Given the description of an element on the screen output the (x, y) to click on. 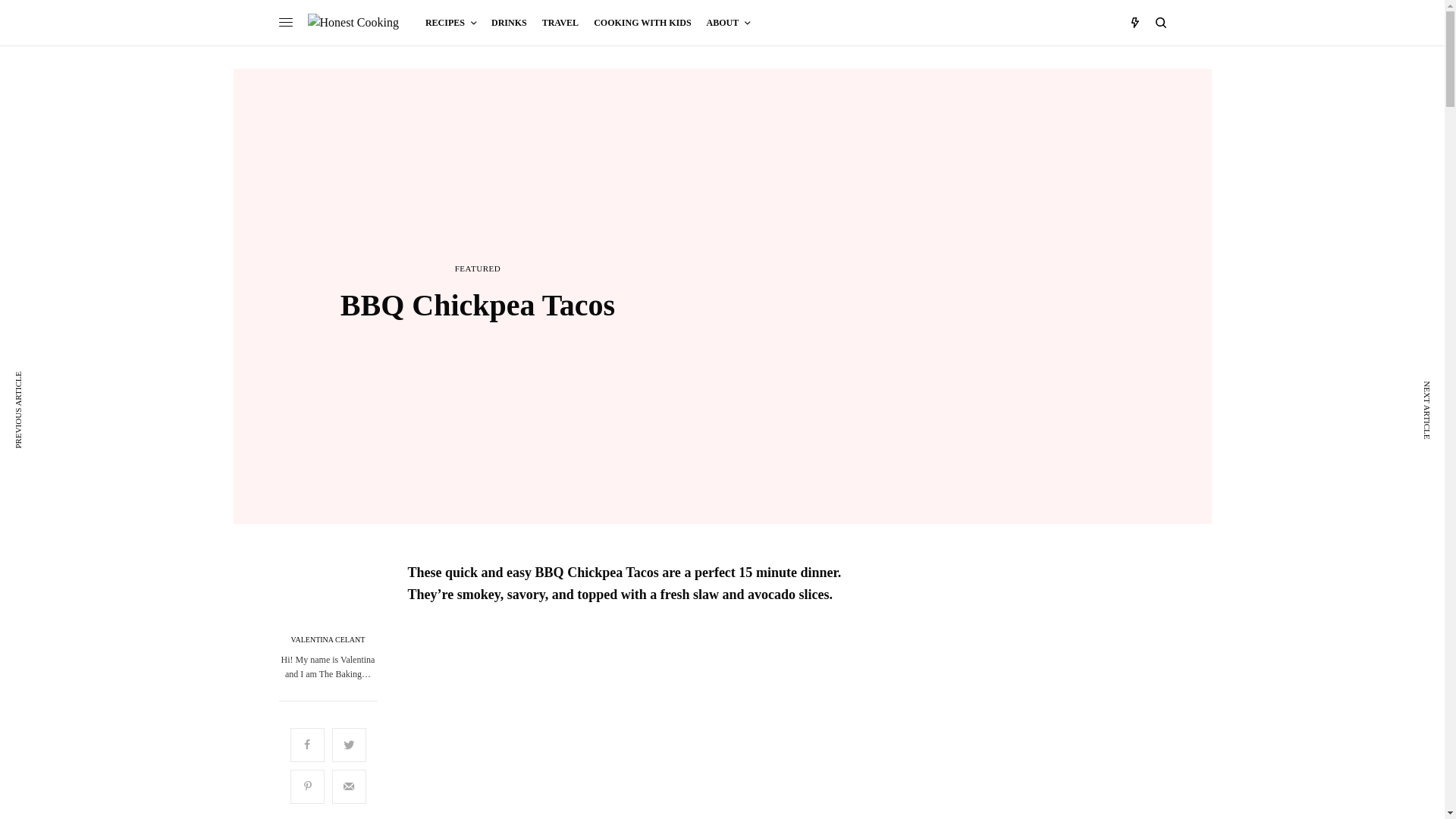
Honest Cooking (352, 22)
VALENTINA CELANT (328, 639)
FEATURED (477, 268)
COOKING WITH KIDS (642, 22)
ABOUT (728, 22)
RECIPES (450, 22)
